Given the description of an element on the screen output the (x, y) to click on. 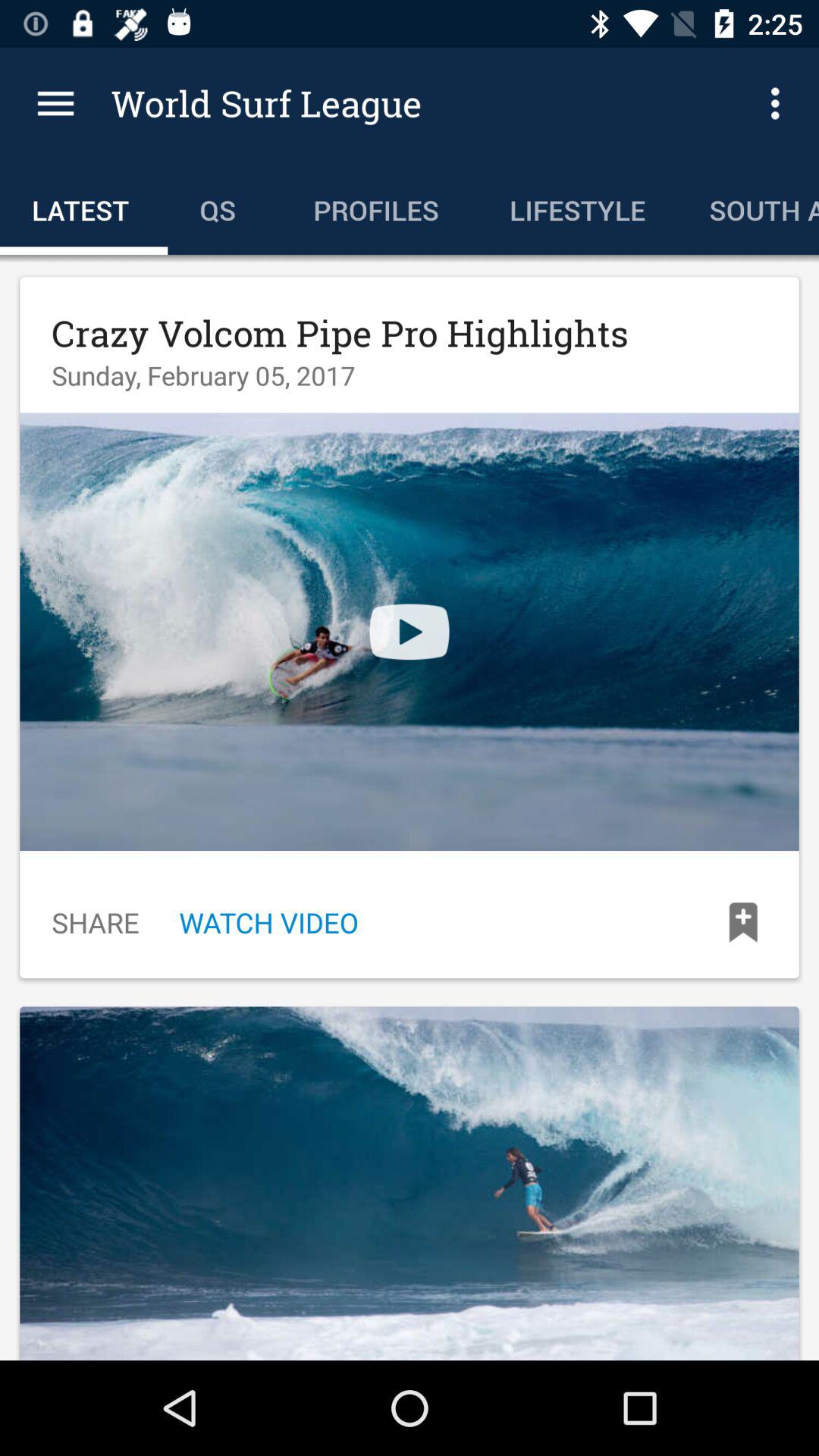
turn on icon above sunday february 05 icon (339, 332)
